Given the description of an element on the screen output the (x, y) to click on. 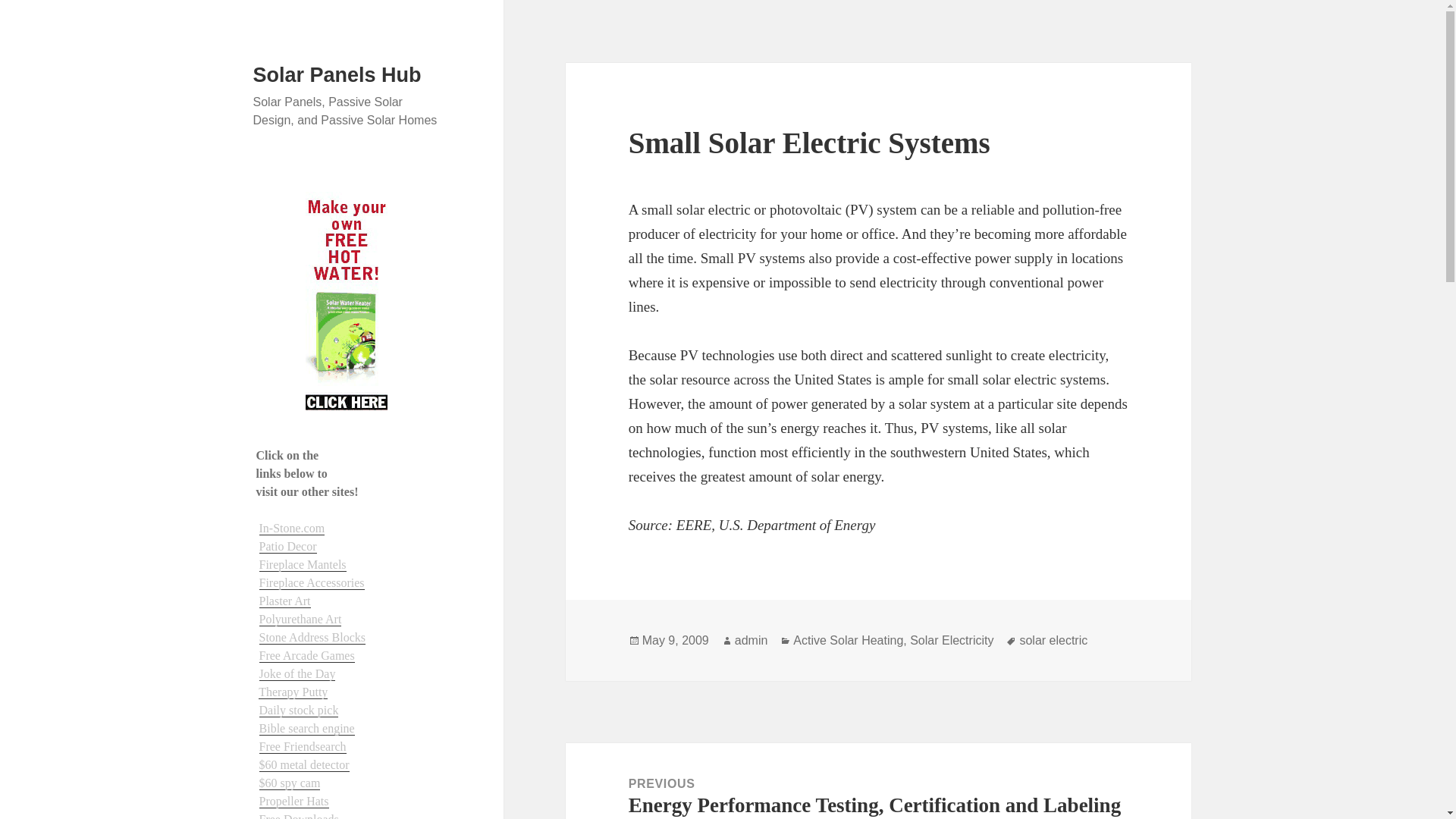
Free Friendsearch (302, 746)
Polyurethane Art (300, 619)
Free Arcade Games (307, 655)
Plaster Art (285, 601)
Propeller Hats (294, 801)
Stone Address Blocks (312, 637)
Free Downloads (299, 816)
In-Stone.com (291, 528)
Bible search engine (307, 728)
Fireplace Accessories (312, 582)
Patio Decor (288, 546)
Joke of the Day (297, 673)
Fireplace Mantels (302, 564)
Daily stock pick (299, 710)
Therapy Putty (293, 692)
